Given the description of an element on the screen output the (x, y) to click on. 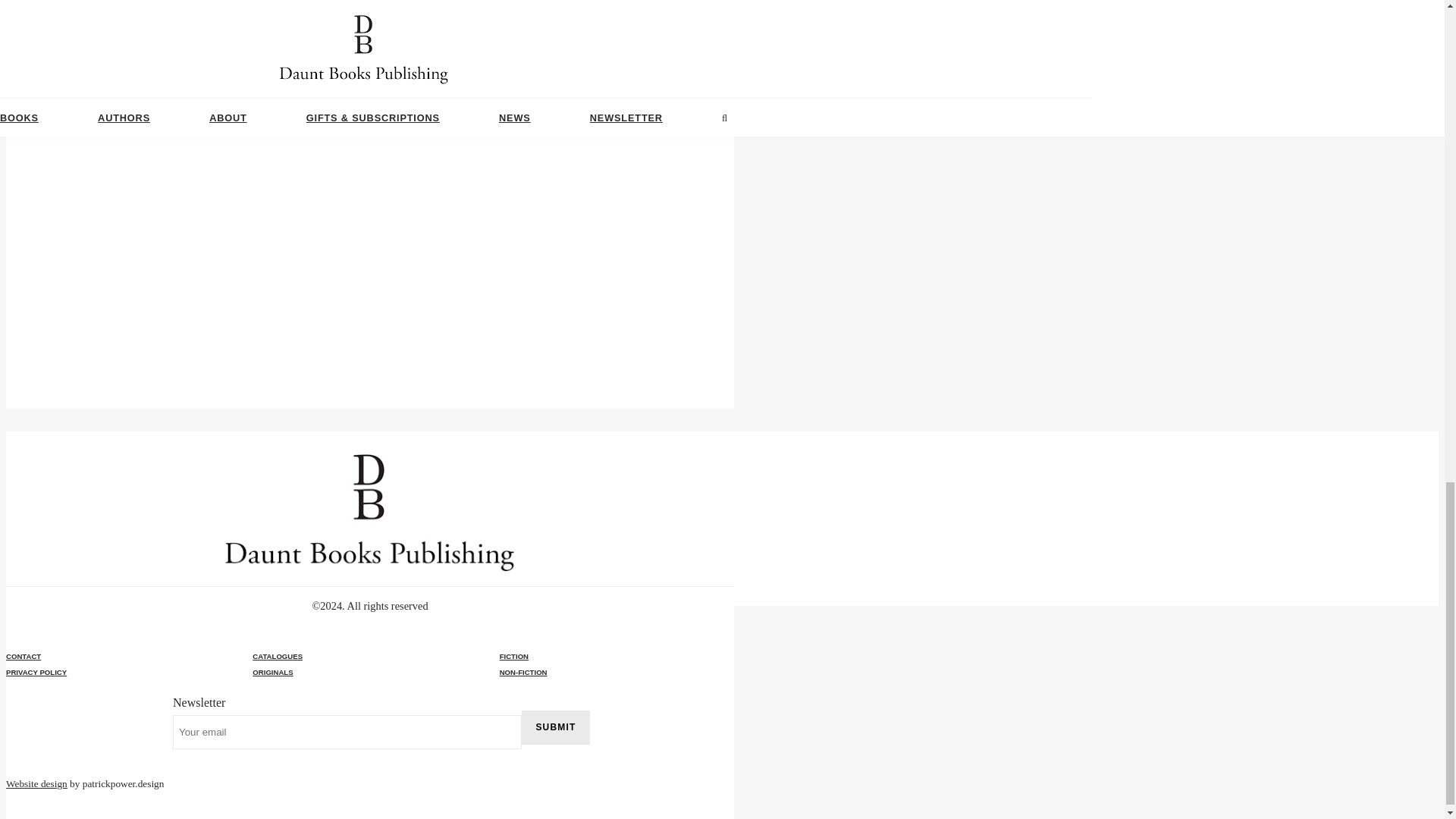
Website design (35, 783)
CATALOGUES (276, 655)
ORIGINALS (368, 672)
FICTION (616, 655)
CONTACT (22, 655)
PRIVACY POLICY (35, 672)
NON-FICTION (616, 672)
SUBMIT (555, 727)
